Given the description of an element on the screen output the (x, y) to click on. 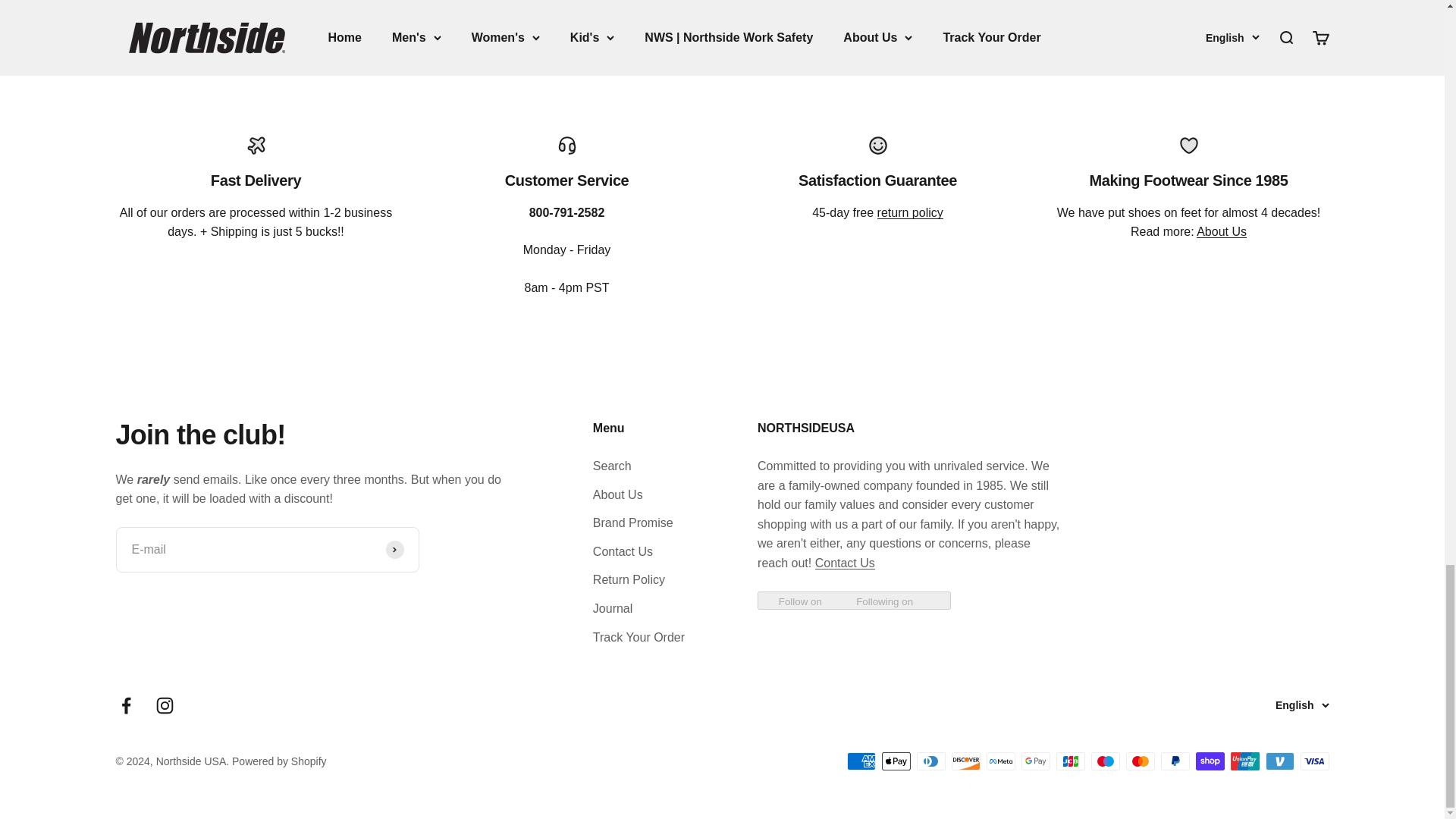
About Us (1221, 231)
Refund Policy (910, 212)
Contact Us (845, 562)
